Given the description of an element on the screen output the (x, y) to click on. 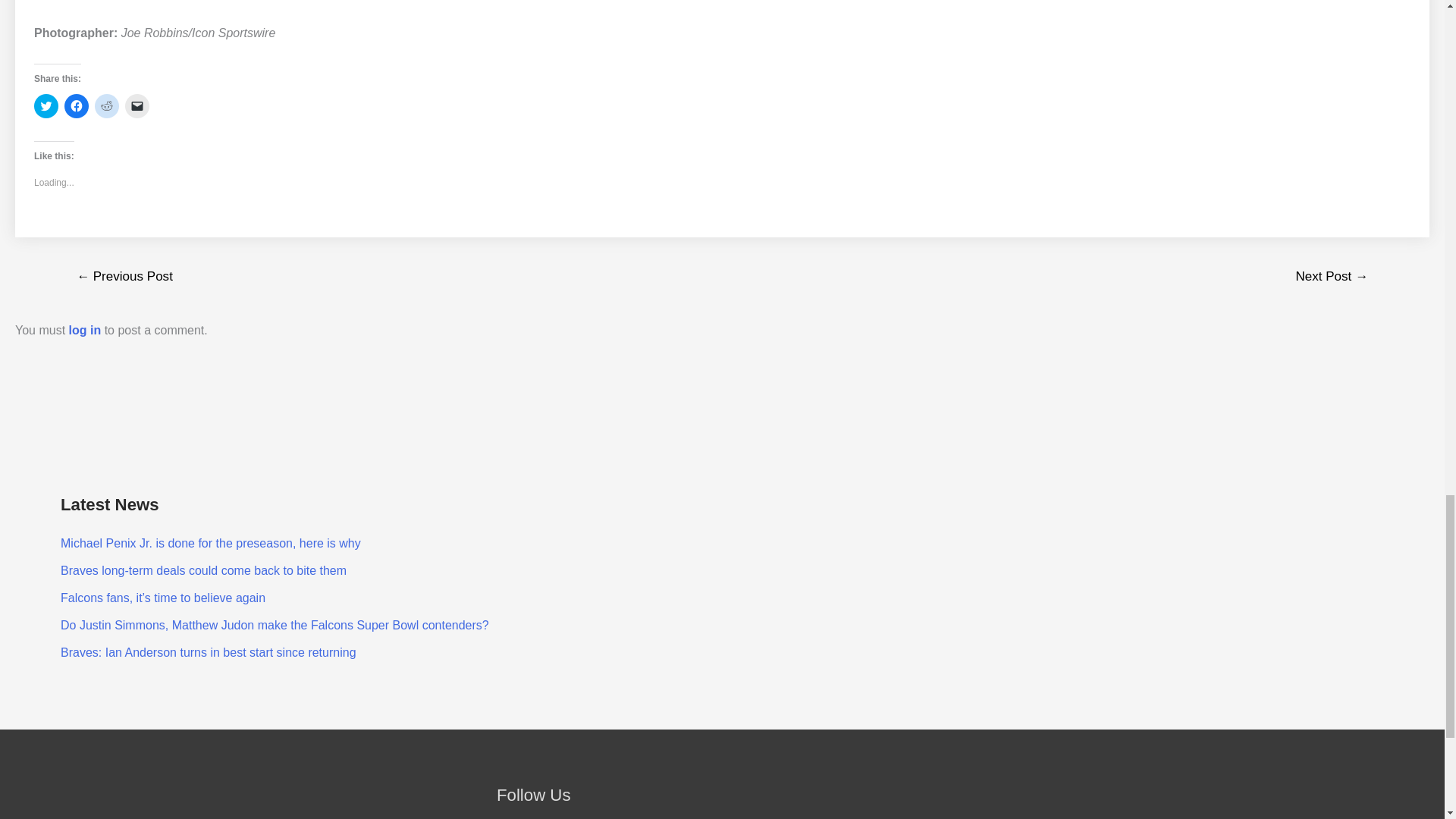
Click to share on Facebook (76, 105)
Click to share on Twitter (45, 105)
Click to share on Reddit (106, 105)
Click to email a link to a friend (137, 105)
